Given the description of an element on the screen output the (x, y) to click on. 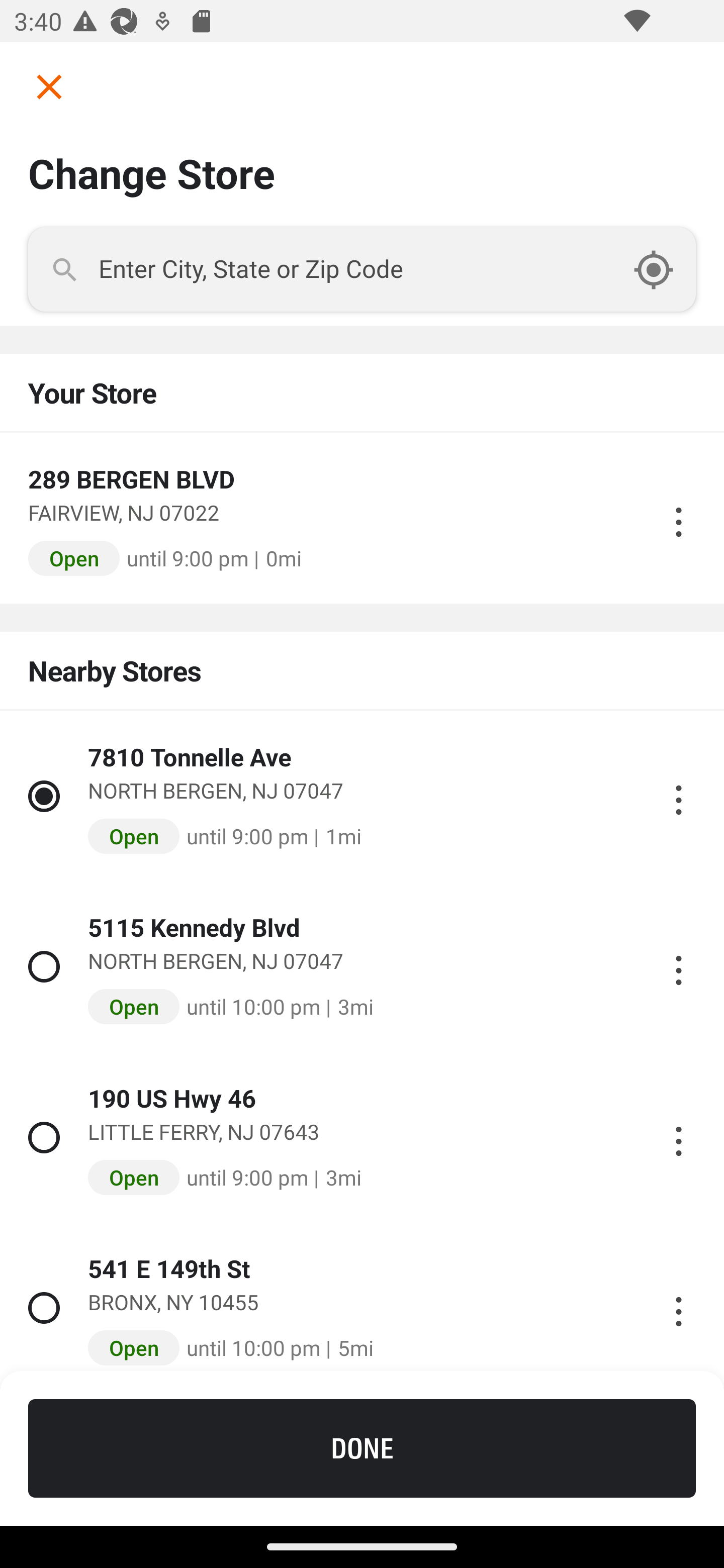
close-button  (42, 86)
Enter City, State or Zip Code search-bar-input (361, 269)
search-location-button  (663, 269)
more-actions-for-289 BERGEN BLVD ︙ (678, 517)
more-actions-for-7810 Tonnelle Ave ︙ (678, 796)
more-actions-for-5115 Kennedy Blvd ︙ (678, 966)
more-actions-for-190 US Hwy 46 ︙ (678, 1137)
more-actions-for-541 E 149th St ︙ (678, 1308)
DONE (361, 1447)
